Given the description of an element on the screen output the (x, y) to click on. 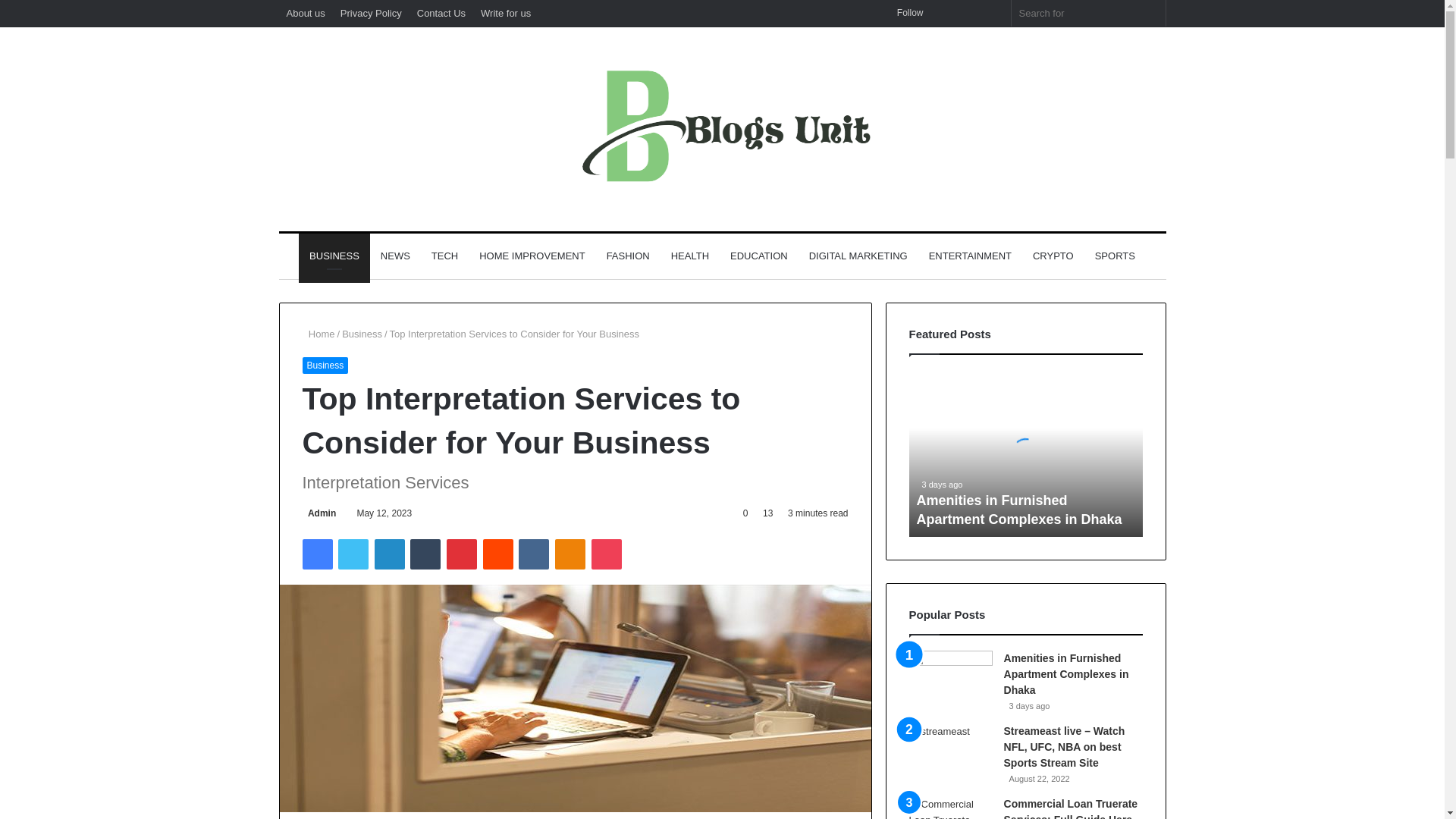
NEWS (394, 256)
VKontakte (533, 553)
VKontakte (533, 553)
Facebook (316, 553)
Tumblr (425, 553)
Search for (1088, 13)
Twitter (352, 553)
Tumblr (425, 553)
Admin (318, 512)
FASHION (628, 256)
